Given the description of an element on the screen output the (x, y) to click on. 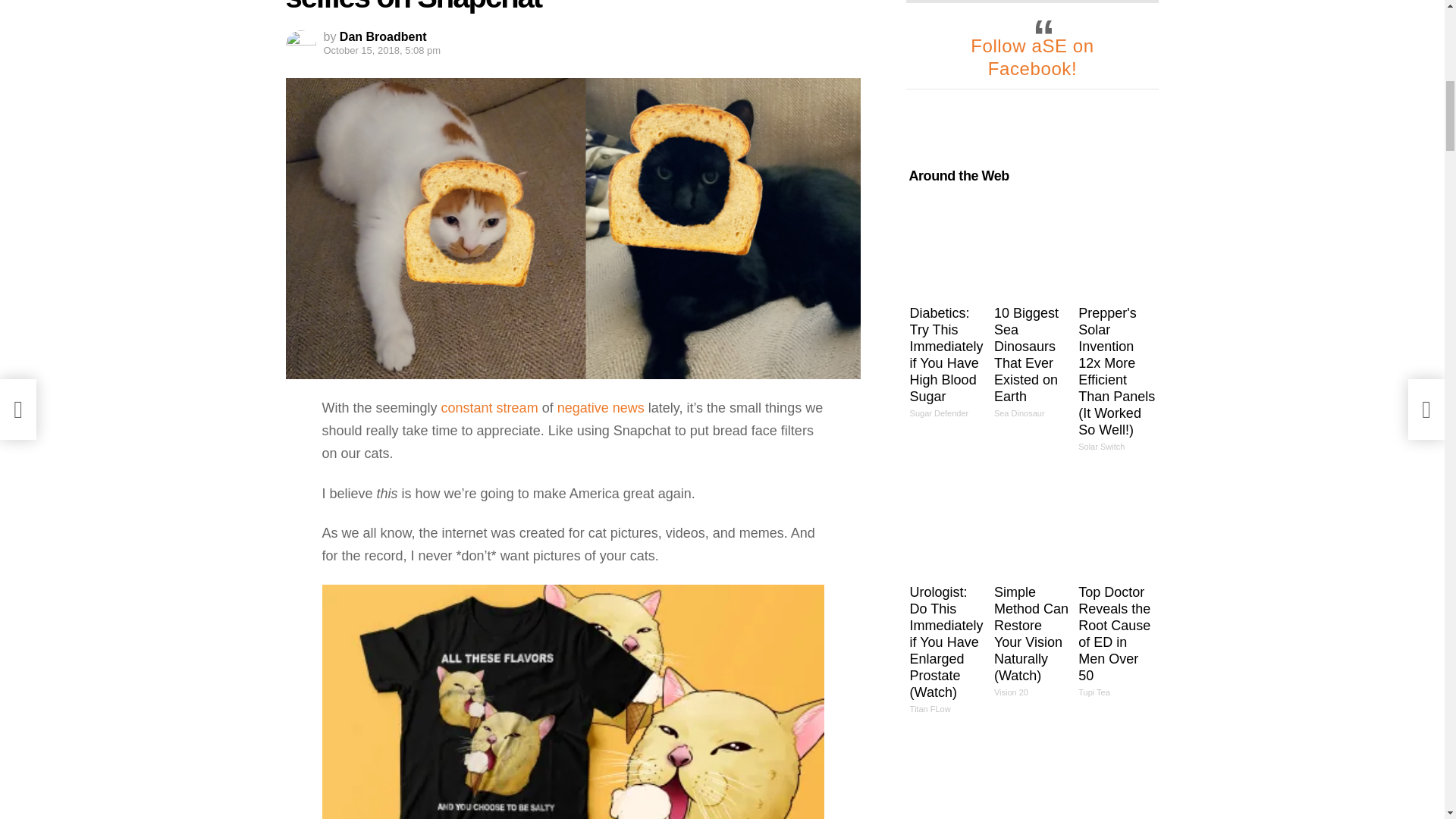
Dan Broadbent (382, 36)
negative news (601, 407)
constant stream (489, 407)
Posts by Dan Broadbent (382, 36)
